Given the description of an element on the screen output the (x, y) to click on. 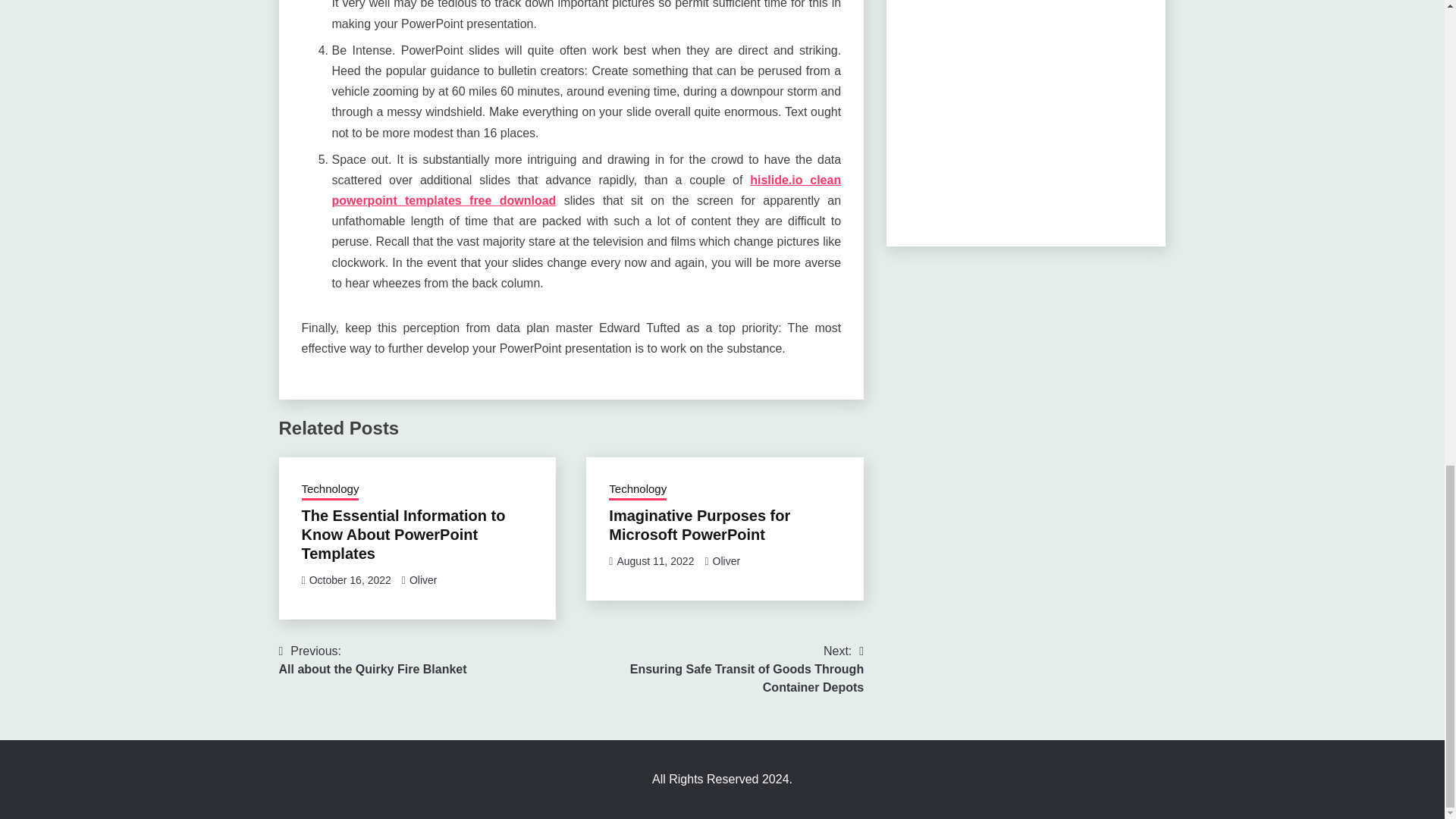
Technology (637, 490)
Technology (330, 490)
Imaginative Purposes for Microsoft PowerPoint (699, 524)
Oliver (727, 561)
August 11, 2022 (373, 660)
hislide.io clean powerpoint templates free download (654, 561)
The Essential Information to Know About PowerPoint Templates (586, 190)
October 16, 2022 (403, 533)
Oliver (349, 580)
